Given the description of an element on the screen output the (x, y) to click on. 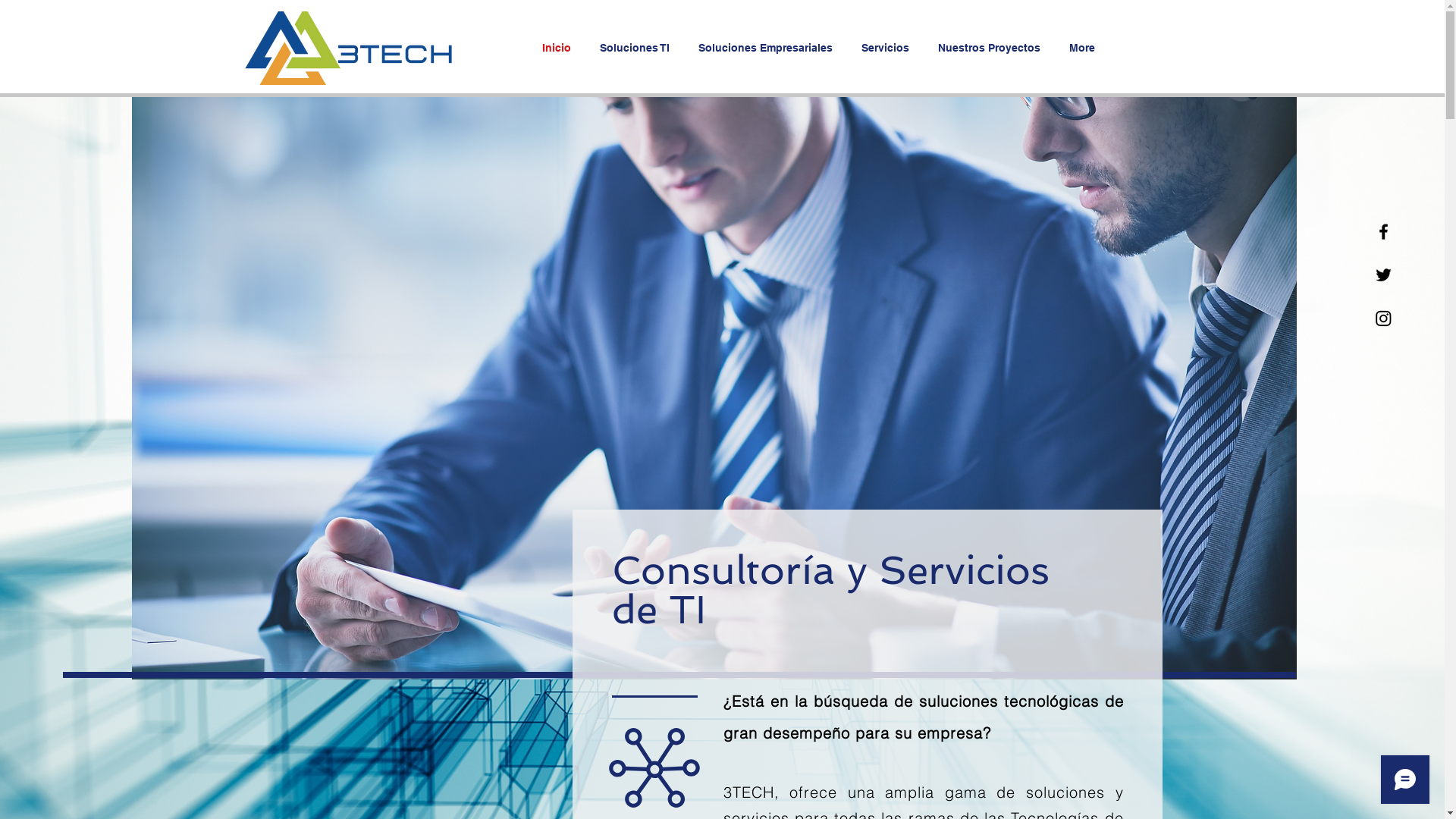
Inicio Element type: text (559, 47)
Nuestros Proyectos Element type: text (991, 47)
Soluciones TI Element type: text (637, 47)
LOGO 3TECH TRANSPARENTE.png Element type: hover (344, 47)
Servicios Element type: text (887, 47)
Soluciones Empresariales Element type: text (768, 47)
1.png Element type: hover (713, 388)
